Given the description of an element on the screen output the (x, y) to click on. 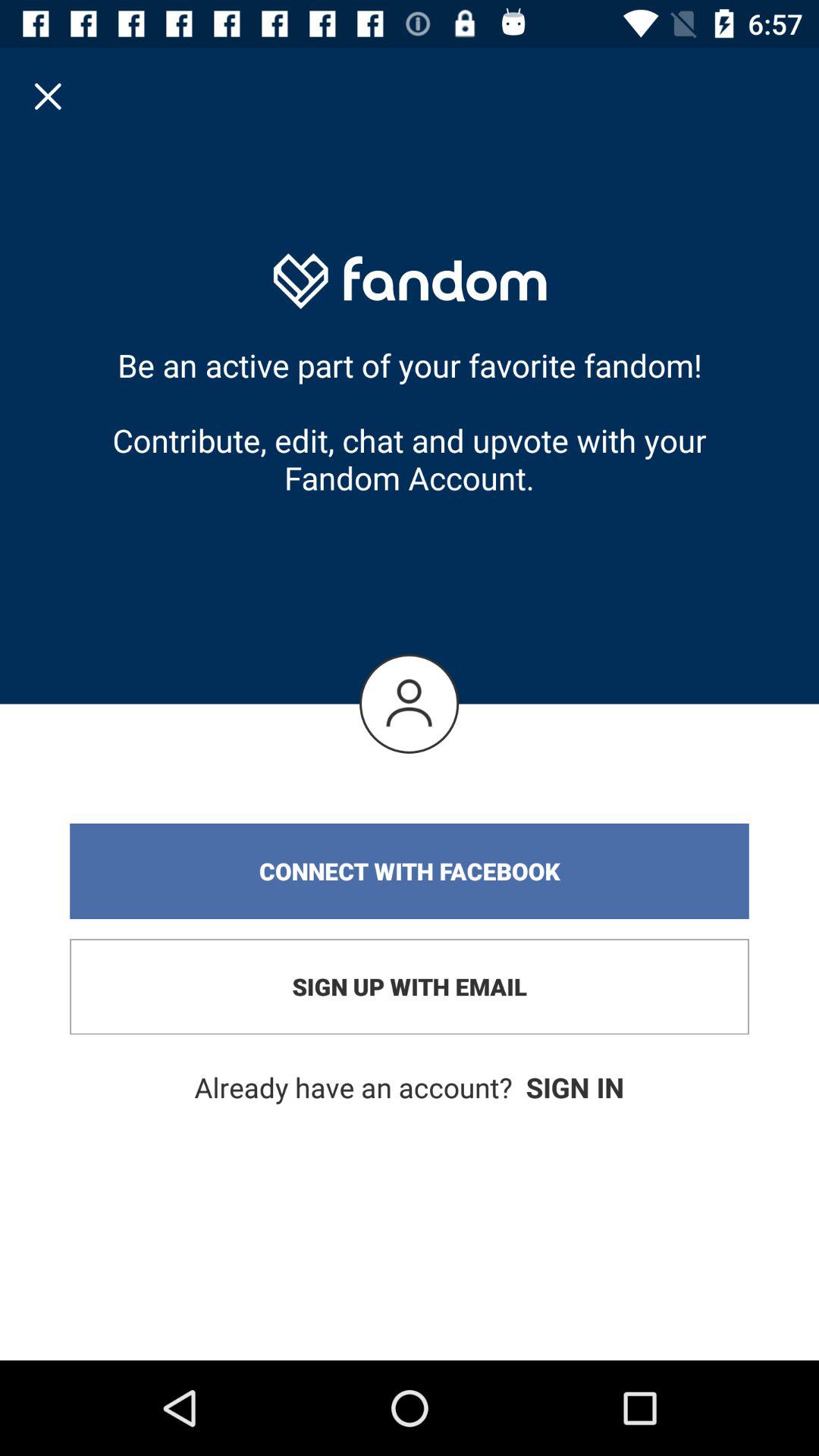
click item above be an active item (47, 95)
